Given the description of an element on the screen output the (x, y) to click on. 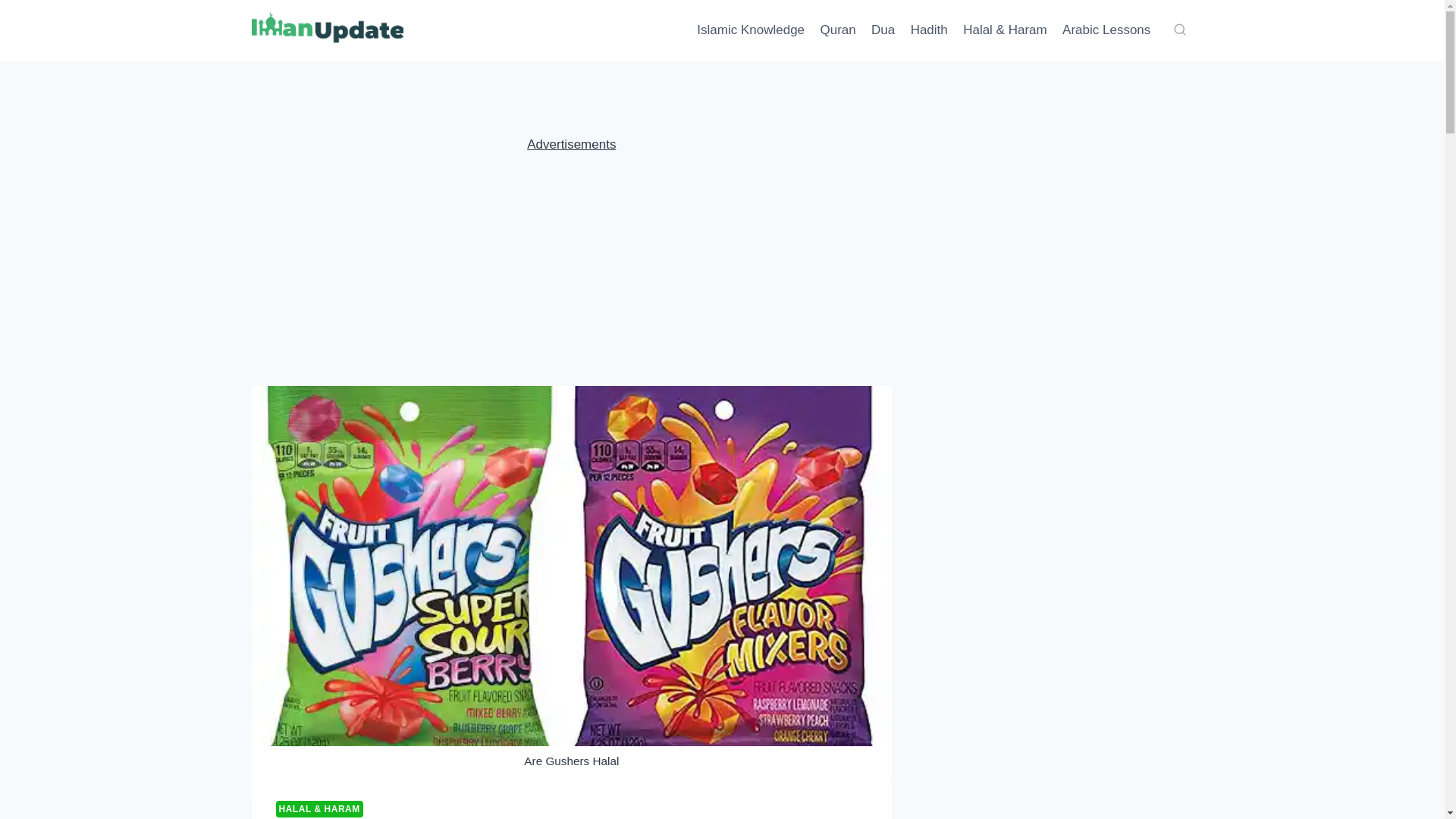
Quran (837, 30)
Islamic Knowledge (750, 30)
Arabic Lessons (1106, 30)
Dua (882, 30)
Hadith (928, 30)
